Given the description of an element on the screen output the (x, y) to click on. 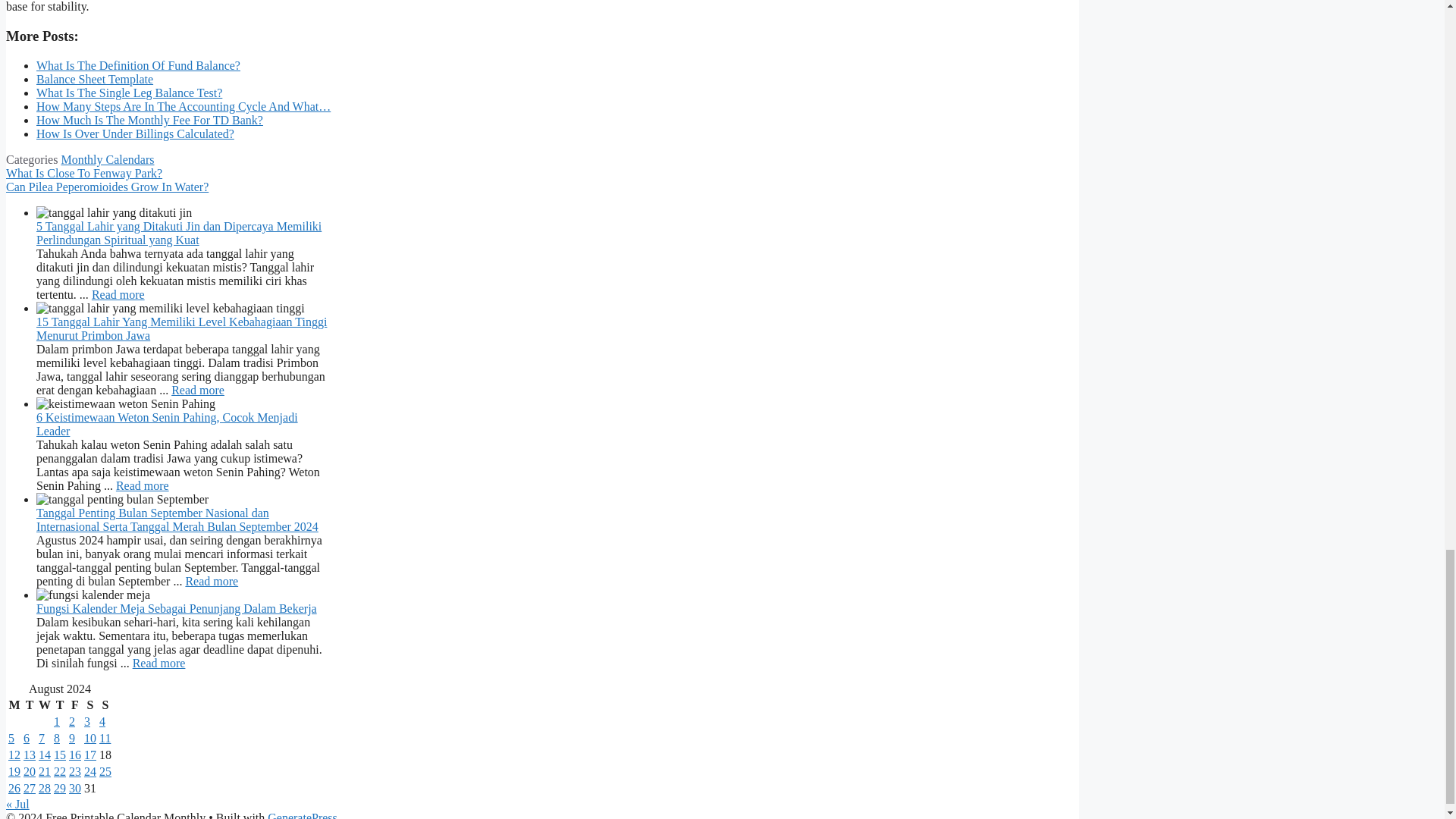
6 Keistimewaan Weton Senin Pahing, Cocok Menjadi Leader (142, 485)
Saturday (89, 704)
What Is The Single Leg Balance Test? (129, 92)
Thursday (59, 704)
Balance Sheet Template (94, 78)
Fungsi Kalender Meja Sebagai Penunjang Dalam Bekerja (159, 662)
Tuesday (29, 704)
